Given the description of an element on the screen output the (x, y) to click on. 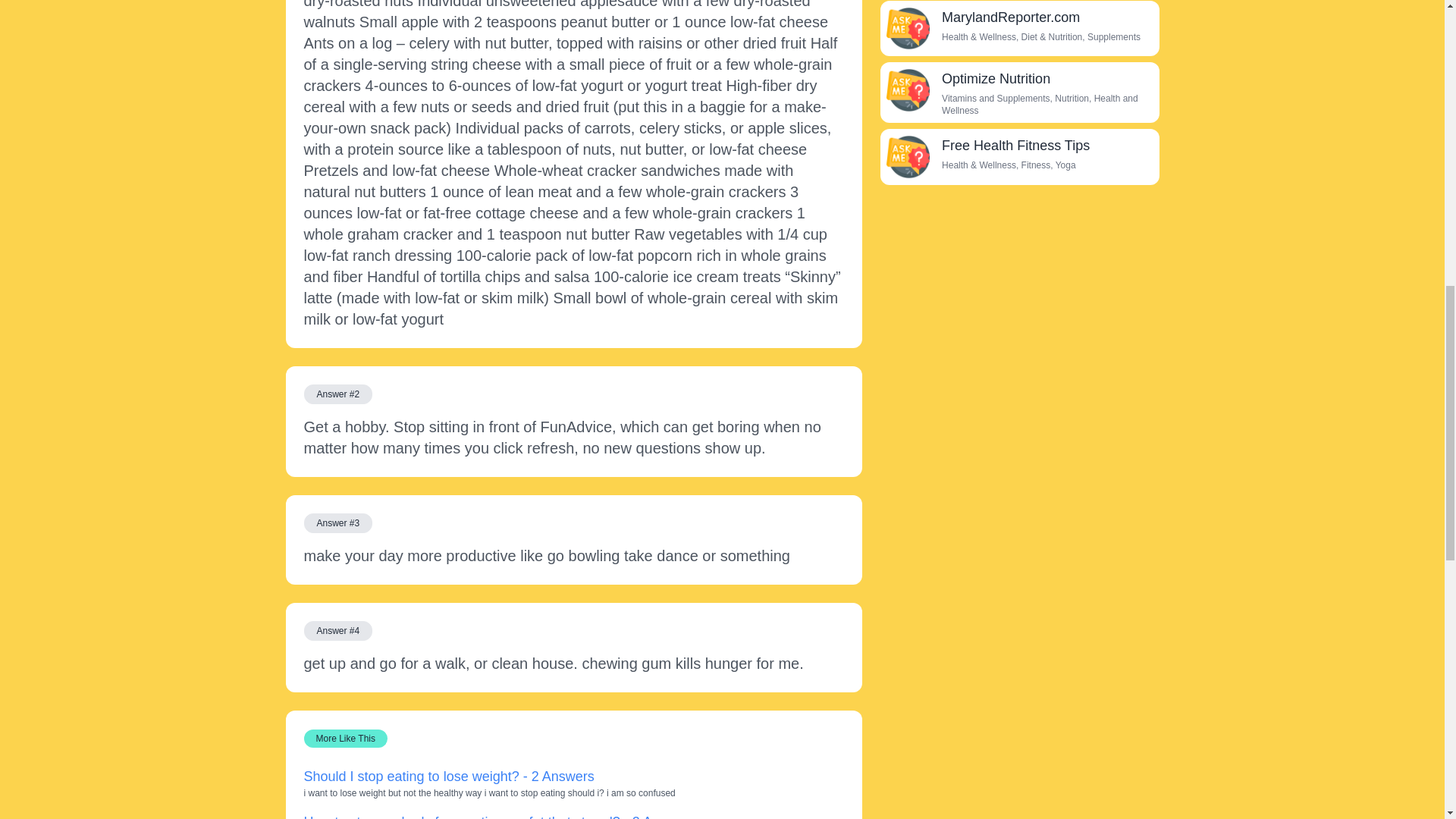
MarylandReporter.com (907, 28)
Free Health Fitness Tips (907, 157)
Should I stop eating to lose weight? - 2 Answers (448, 776)
Optimize Nutrition (995, 78)
MarylandReporter.com (1011, 17)
Optimize Nutrition (907, 89)
Free Health Fitness Tips (1015, 145)
